Given the description of an element on the screen output the (x, y) to click on. 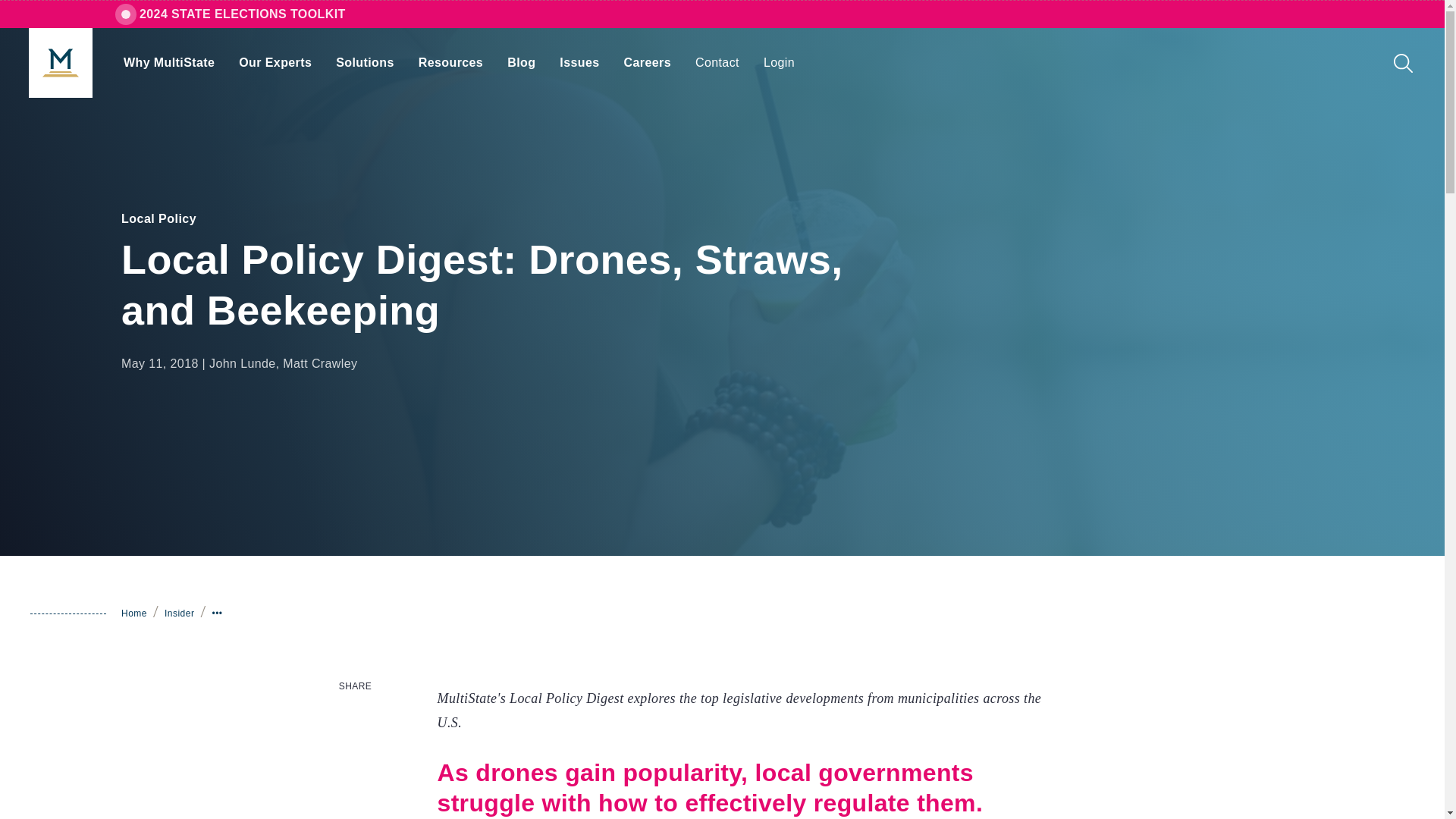
Insider (178, 613)
Local Policy (158, 218)
Solutions (364, 63)
Careers (646, 63)
2024 STATE ELECTIONS TOOLKIT (242, 13)
Resources (450, 63)
Home (133, 613)
Why MultiState (168, 63)
Blog (521, 63)
Matt Crawley (319, 363)
